Given the description of an element on the screen output the (x, y) to click on. 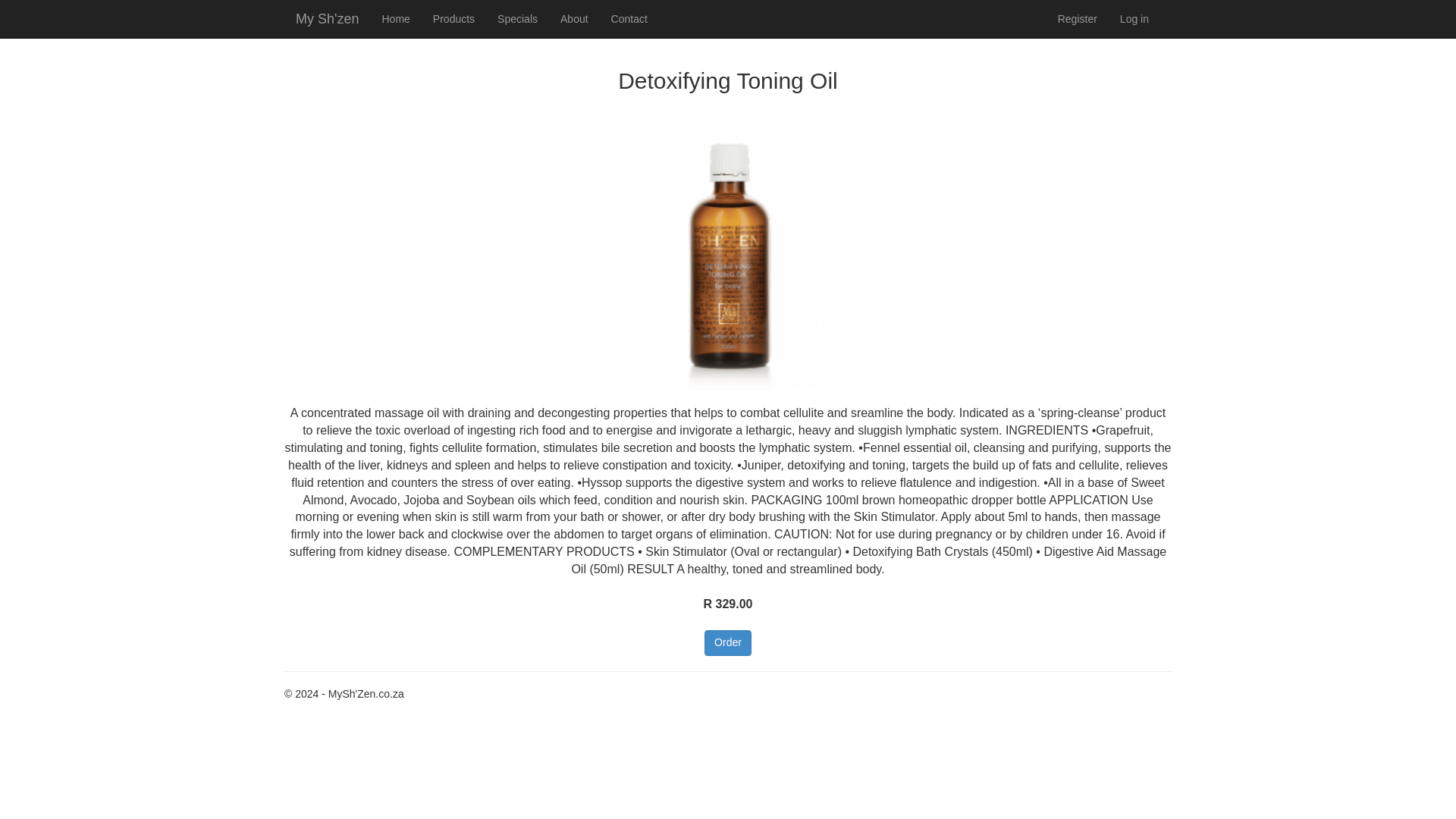
Home (394, 18)
Products (454, 18)
Log in (1134, 18)
My Sh'zen (326, 18)
Contact (629, 18)
Register (1077, 18)
Order (727, 642)
About (573, 18)
Specials (517, 18)
